Given the description of an element on the screen output the (x, y) to click on. 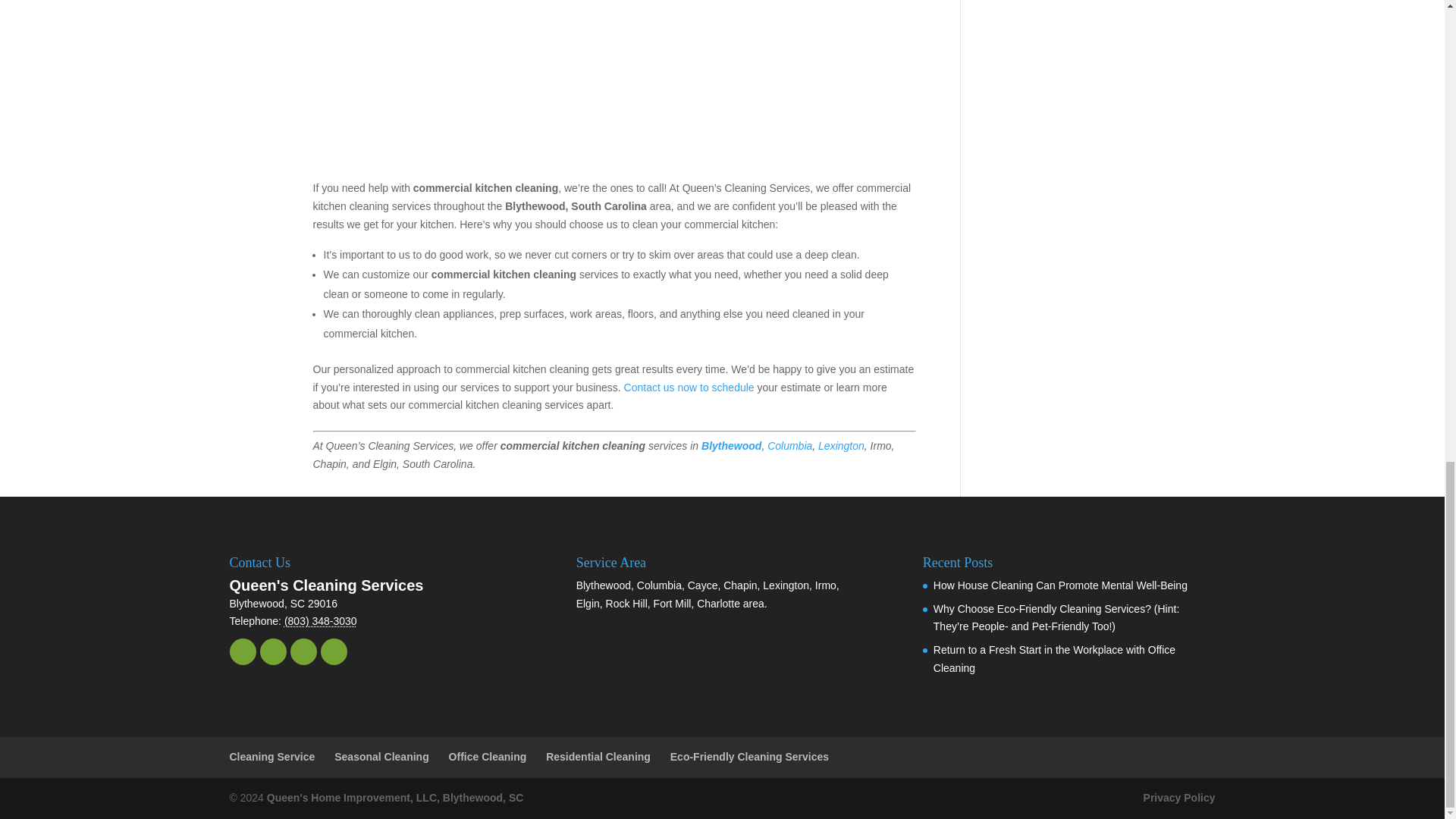
Contact us now to schedule (689, 387)
Twitter (272, 651)
Blythewood (731, 445)
Columbia (789, 445)
Facebook (242, 651)
Instagram (302, 651)
Google My Business (333, 651)
Lexington (841, 445)
